Given the description of an element on the screen output the (x, y) to click on. 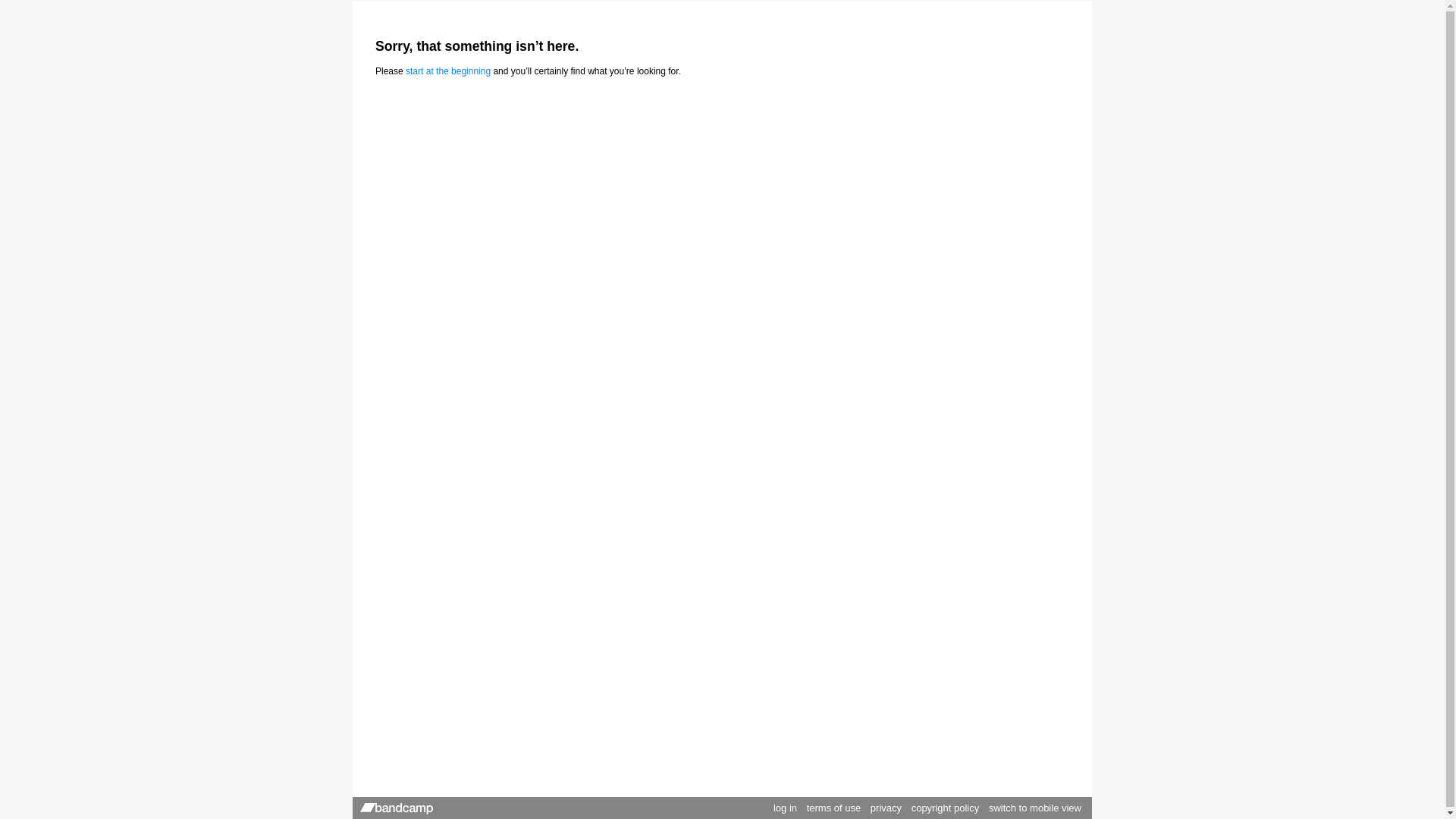
terms of use Element type: text (833, 807)
copyright policy Element type: text (945, 807)
log in Element type: text (785, 807)
switch to mobile view Element type: text (1034, 807)
start at the beginning Element type: text (447, 70)
privacy Element type: text (885, 807)
